Given the description of an element on the screen output the (x, y) to click on. 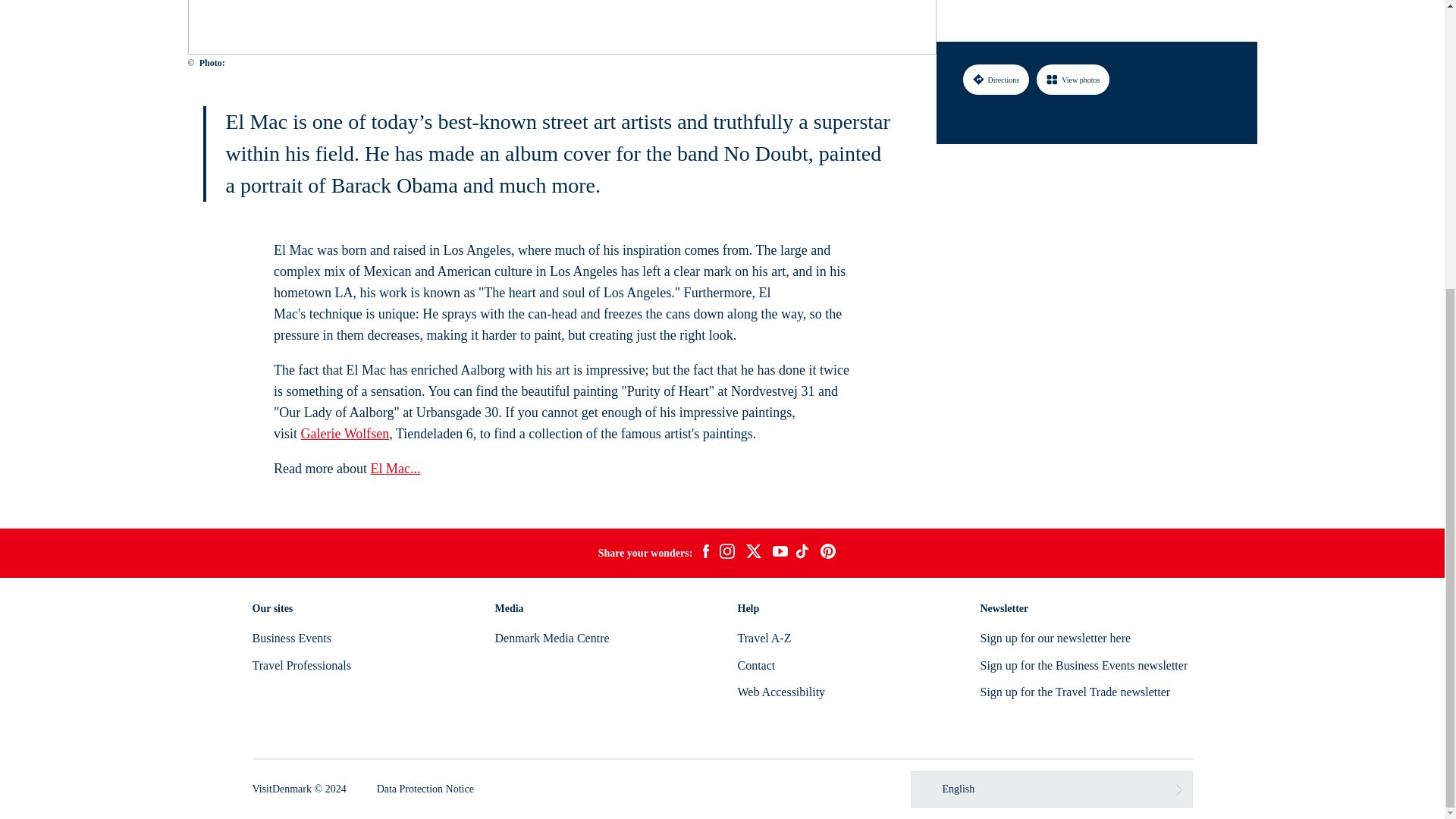
twitter (753, 553)
Travel A-Z (763, 637)
Sign up for our newsletter here (1055, 637)
instagram (726, 553)
Travel Professionals (300, 665)
Web Accessibility (780, 691)
Data Protection Notice (425, 789)
Sign up for the Travel Trade newsletter (1074, 691)
Galerie Wolfsen (345, 433)
Sign up for the Travel Trade newsletter (1074, 691)
Travel Professionals (300, 665)
youtube (780, 553)
Sign up for the Business Events newsletter (1083, 665)
Sign up for the Business Events newsletter (1083, 665)
pinterest (828, 553)
